Given the description of an element on the screen output the (x, y) to click on. 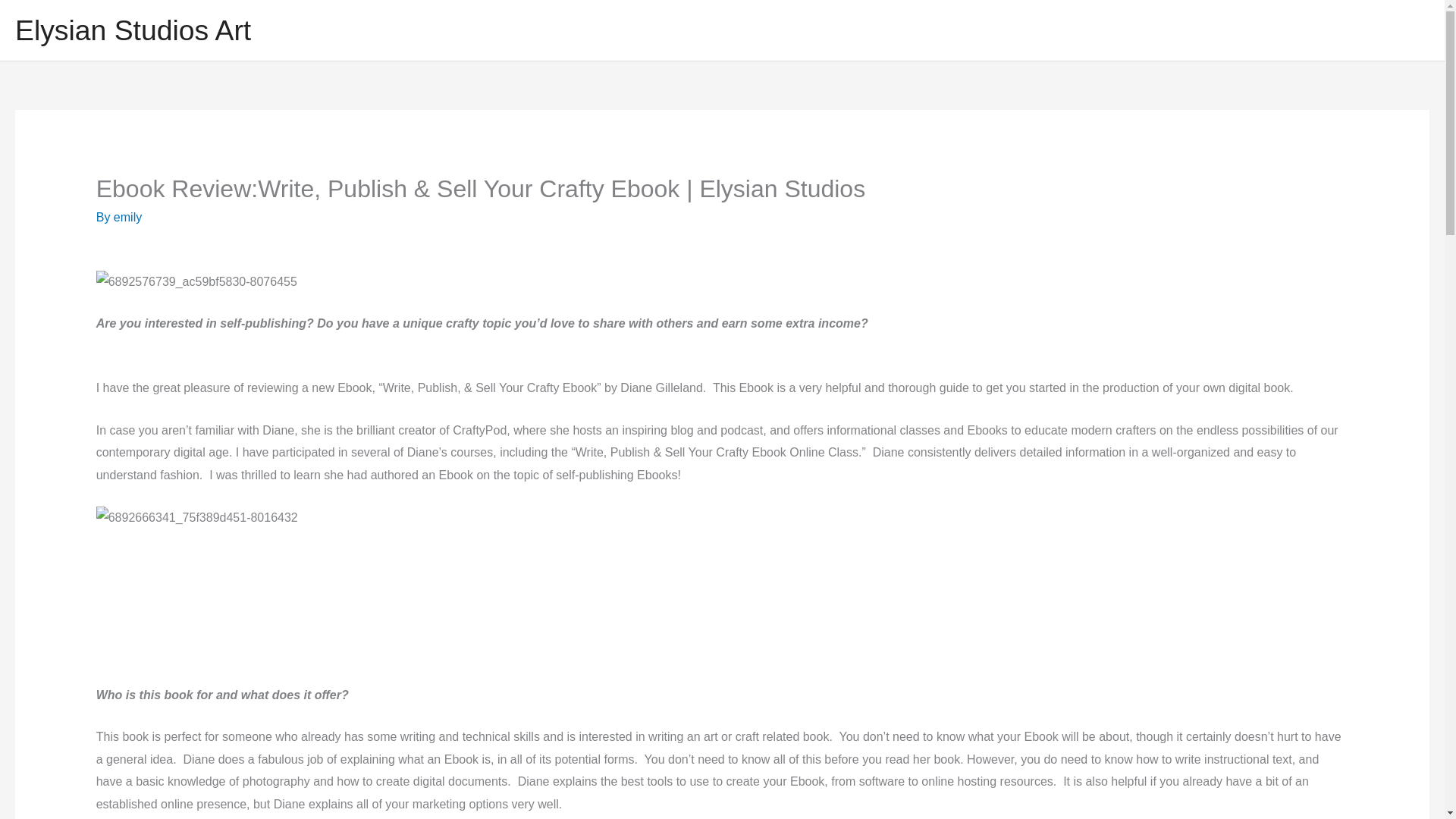
View all posts by emily (127, 216)
Elysian Studios Art (132, 29)
emily (127, 216)
